Given the description of an element on the screen output the (x, y) to click on. 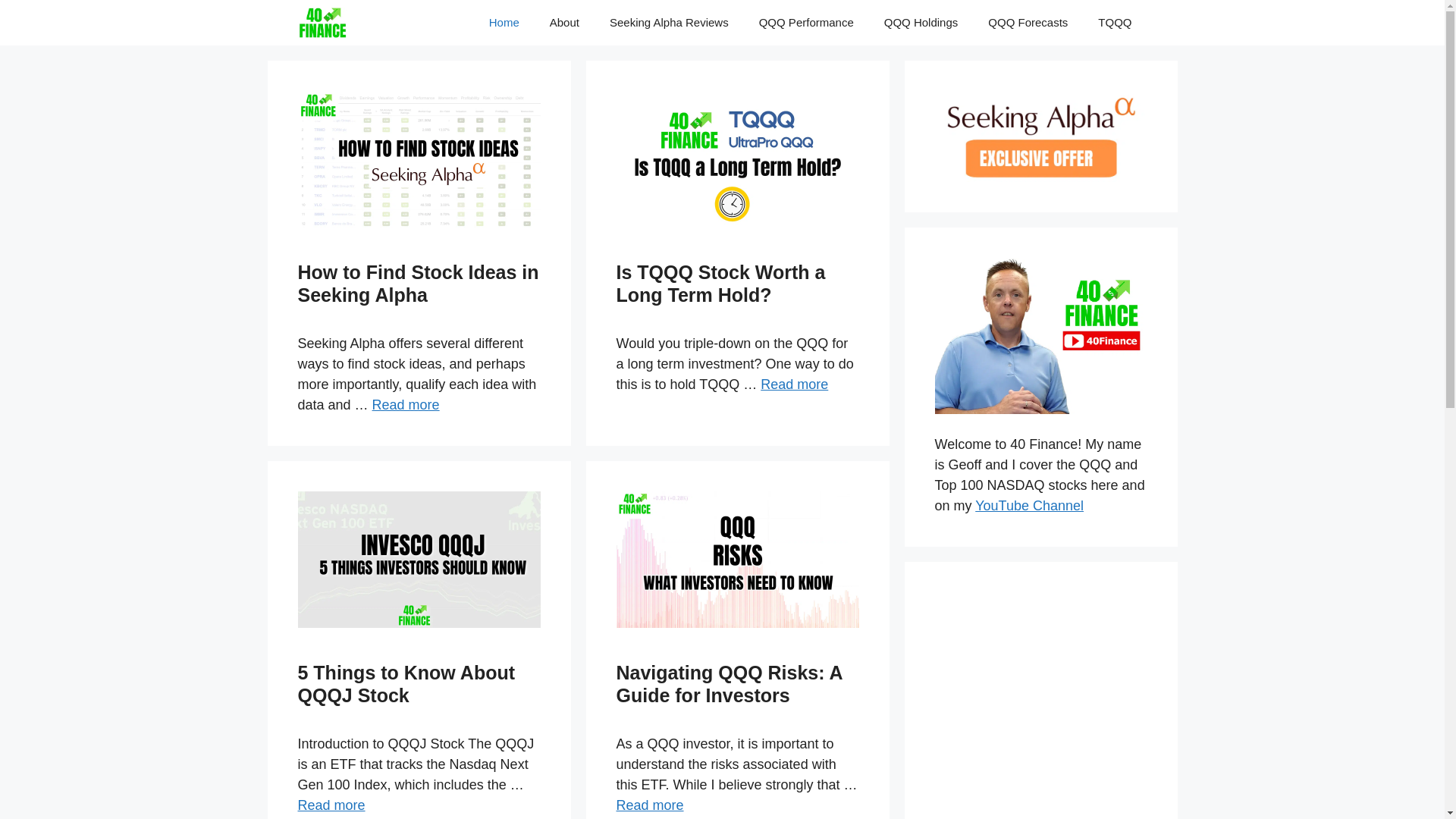
QQQ Holdings Element type: text (921, 22)
Is TQQQ Stock Worth a Long Term Hold? Element type: text (720, 283)
Read more Element type: text (649, 804)
Read more Element type: text (330, 804)
Navigating QQQ Risks: A Guide for Investors Element type: text (728, 684)
QQQ Performance Element type: text (806, 22)
5 Things to Know About QQQJ Stock Element type: text (405, 684)
TQQQ Element type: text (1114, 22)
Seeking Alpha Reviews Element type: text (668, 22)
How to Find Stock Ideas in Seeking Alpha Element type: text (417, 283)
Home Element type: text (503, 22)
QQQ Forecasts Element type: text (1027, 22)
Read more Element type: text (405, 404)
Read more Element type: text (794, 384)
About Element type: text (564, 22)
YouTube Channel Element type: text (1029, 505)
40 Finance Blog Element type: hover (321, 22)
